Given the description of an element on the screen output the (x, y) to click on. 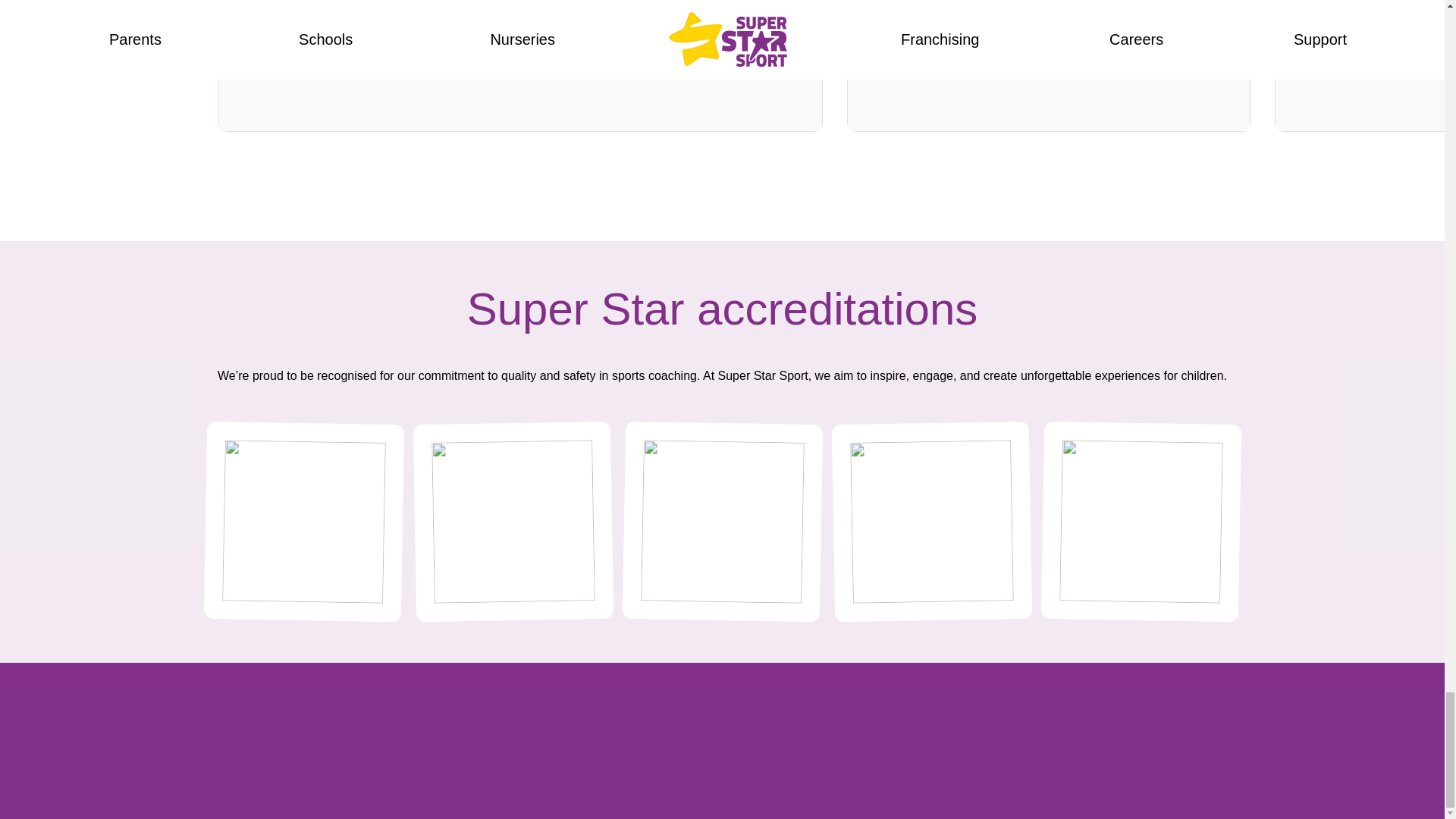
Nursery page 4-min (1048, 65)
Nursery page 3 (1365, 65)
Screenshot 2024-07-01 at 17.15.08 (520, 65)
